Given the description of an element on the screen output the (x, y) to click on. 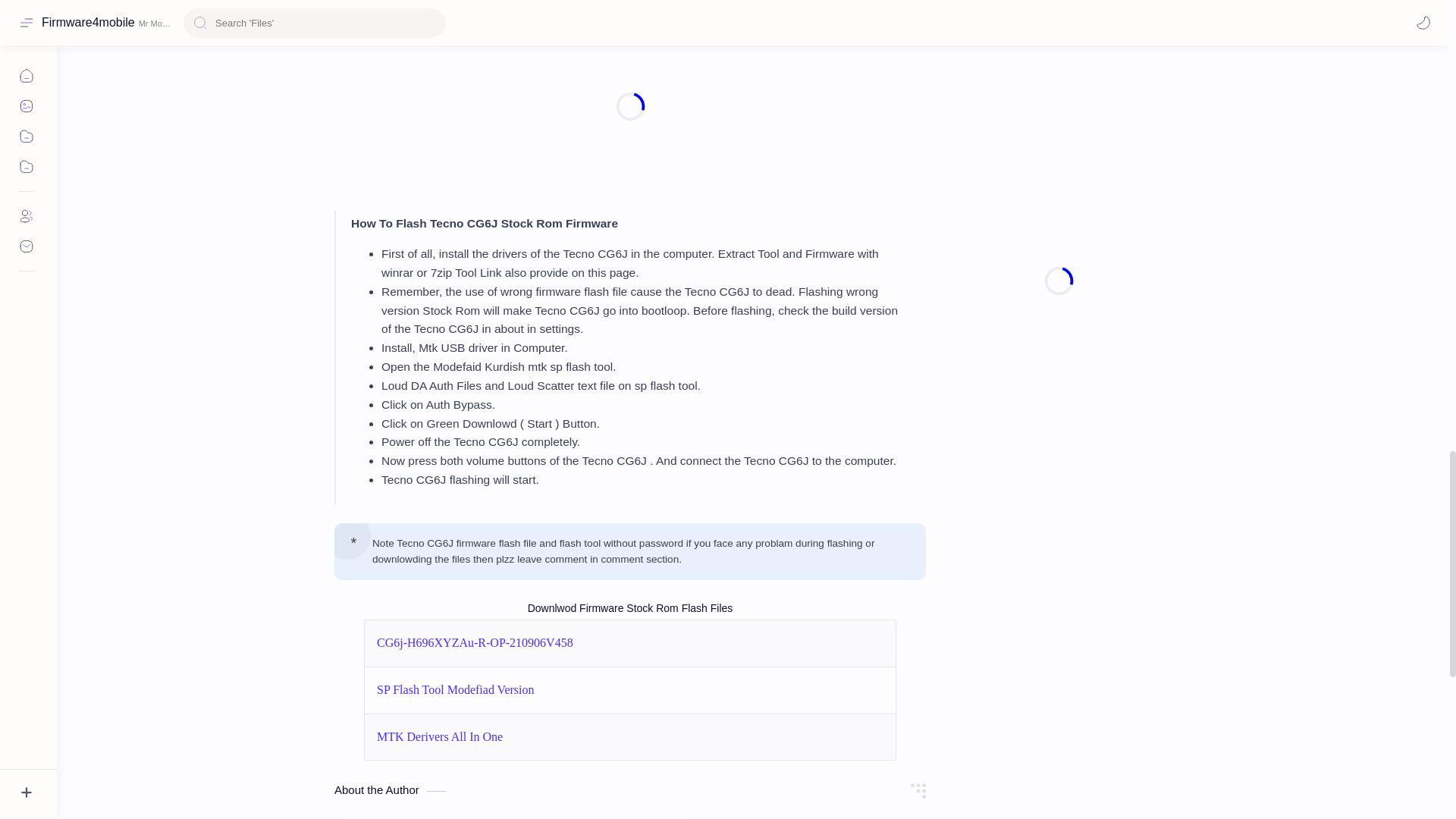
CG6j-H696XYZAu-R-OP-210906V458 (475, 642)
MTK Derivers All In One (439, 736)
SP Flash Tool Modefiad Version (455, 689)
